Given the description of an element on the screen output the (x, y) to click on. 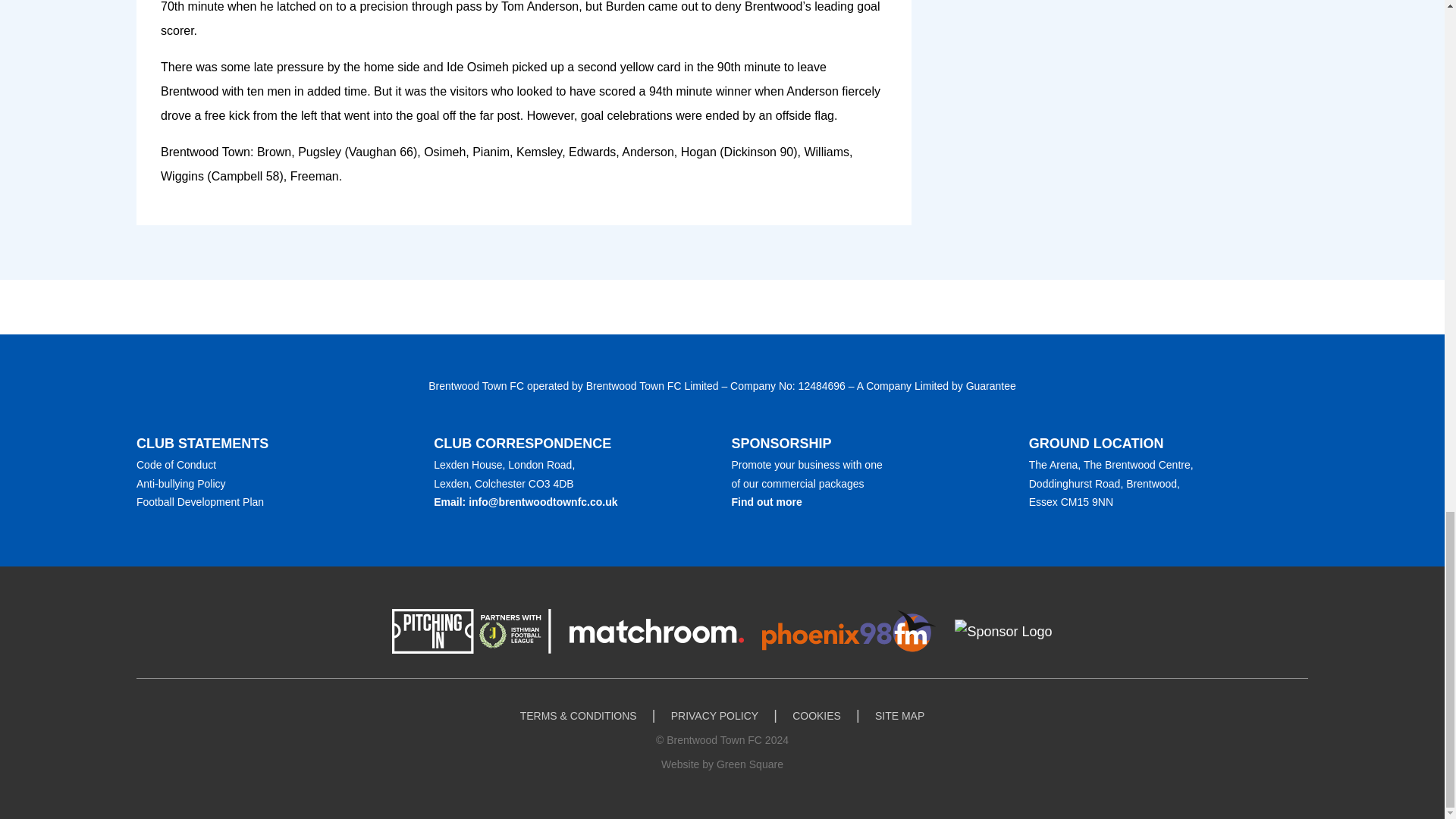
PRIVACY POLICY (714, 715)
Find out more (766, 501)
SITE MAP (899, 715)
Football Development Plan (199, 501)
Code of Conduct (175, 464)
Anti-bullying Policy (180, 483)
COOKIES (816, 715)
